Given the description of an element on the screen output the (x, y) to click on. 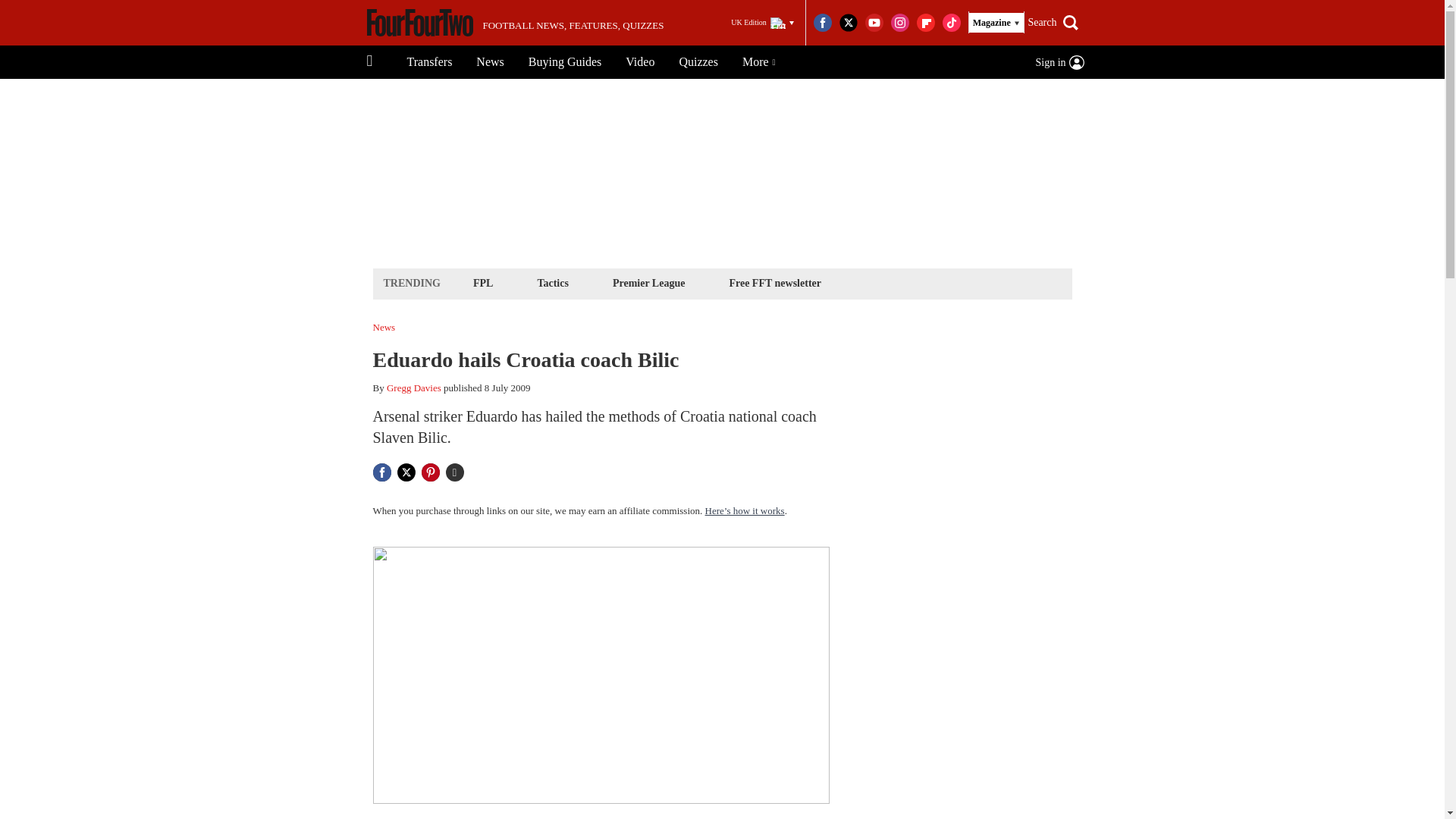
Transfers (429, 61)
News (489, 61)
Quizzes (698, 61)
UK Edition (761, 22)
Free FFT newsletter (775, 282)
Gregg Davies (414, 387)
Buying Guides (564, 61)
FPL (482, 282)
Premier League (648, 282)
Video (639, 61)
